Given the description of an element on the screen output the (x, y) to click on. 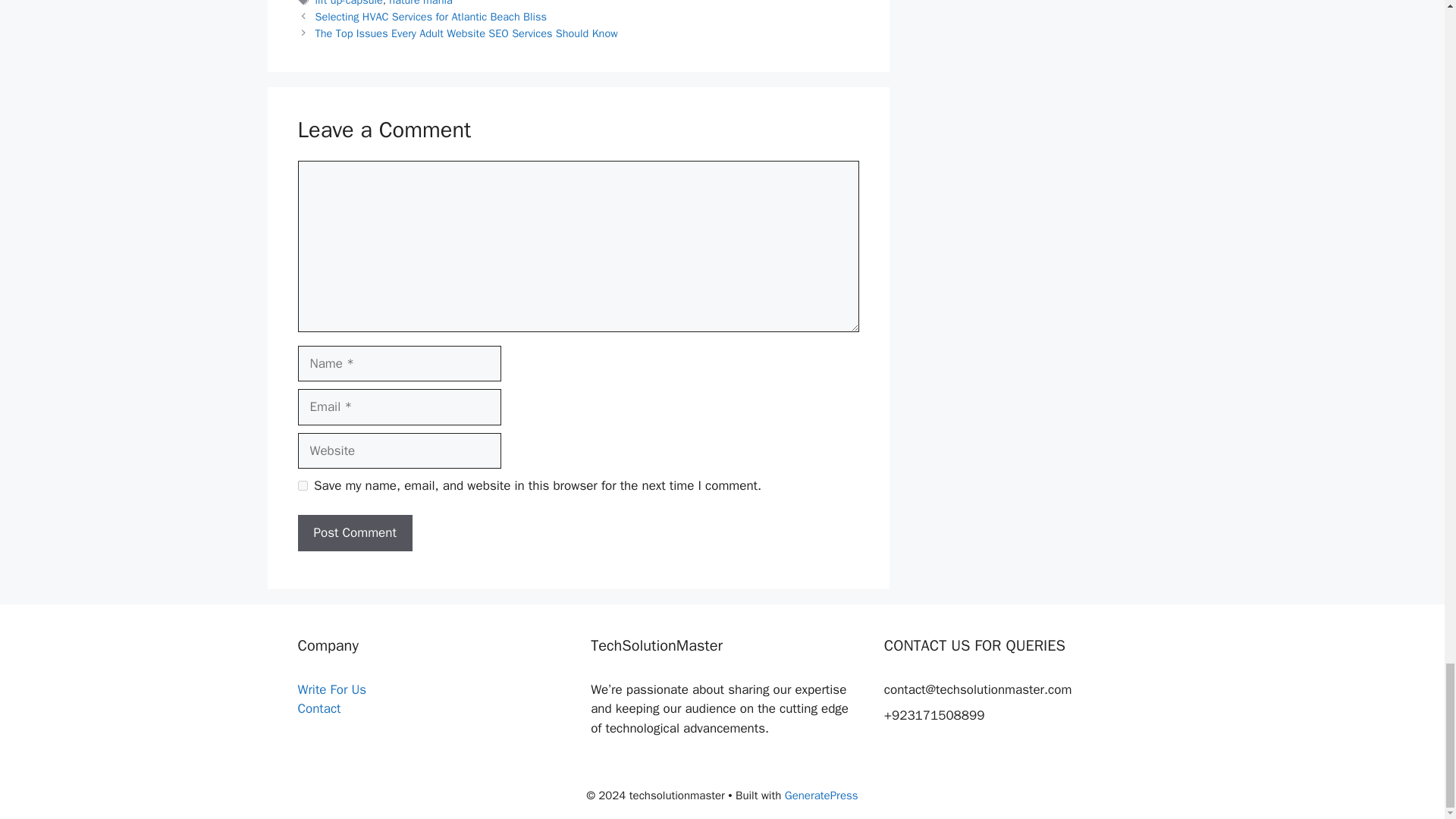
Selecting HVAC Services for Atlantic Beach Bliss (431, 16)
lift up-capsule (348, 3)
Write For Us (331, 689)
Contact (318, 708)
GeneratePress (821, 795)
Post Comment (354, 533)
The Top Issues Every Adult Website SEO Services Should Know (466, 33)
nature mania (419, 3)
yes (302, 485)
Post Comment (354, 533)
